Given the description of an element on the screen output the (x, y) to click on. 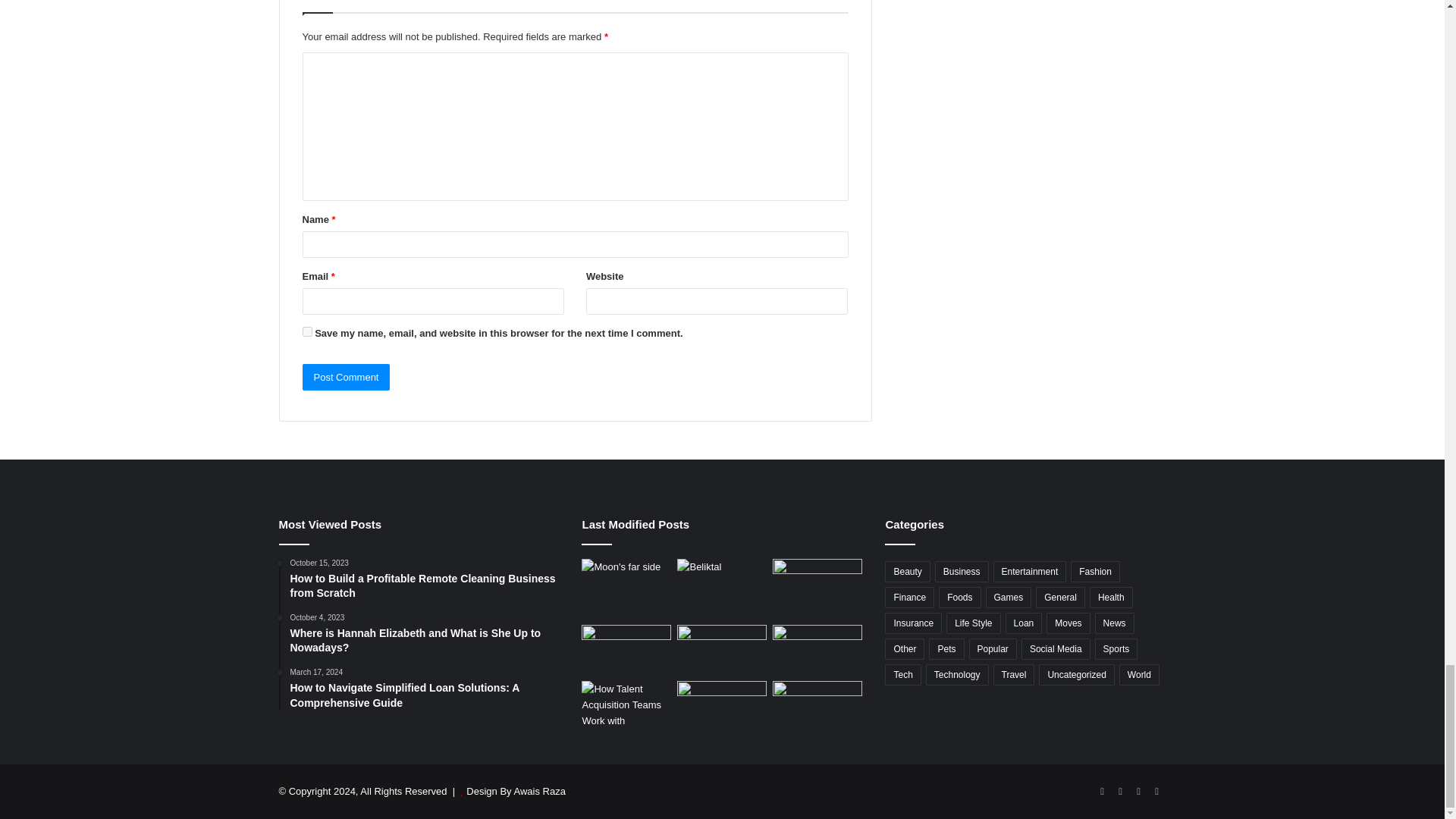
yes (306, 331)
Post Comment (345, 376)
